Given the description of an element on the screen output the (x, y) to click on. 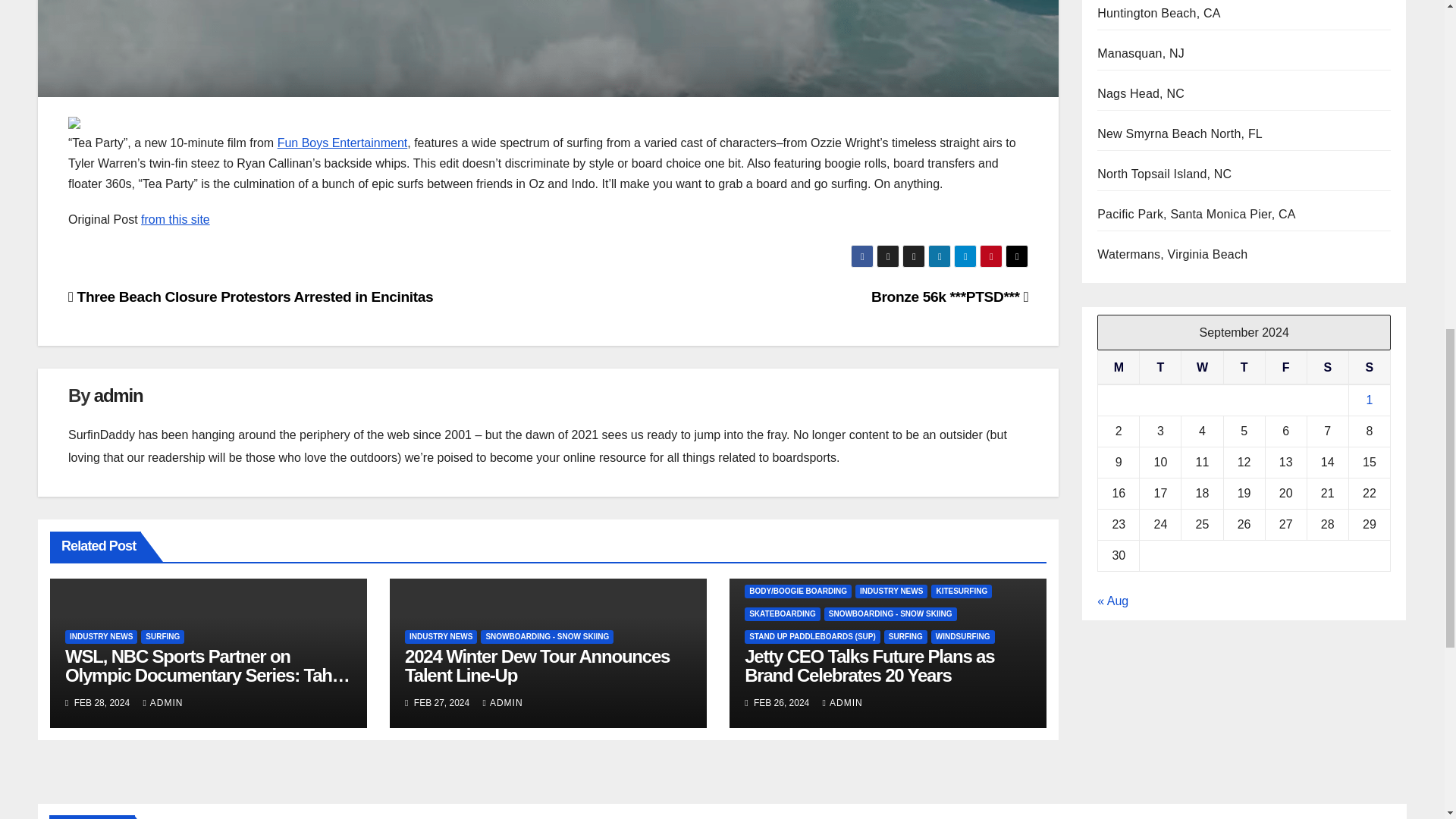
INDUSTRY NEWS (100, 636)
from this site (175, 219)
Permalink to: 2024 Winter Dew Tour Announces Talent Line-Up (536, 665)
Three Beach Closure Protestors Arrested in Encinitas (250, 296)
admin (118, 394)
SURFING (162, 636)
Fun Boys Entertainment (342, 142)
